Given the description of an element on the screen output the (x, y) to click on. 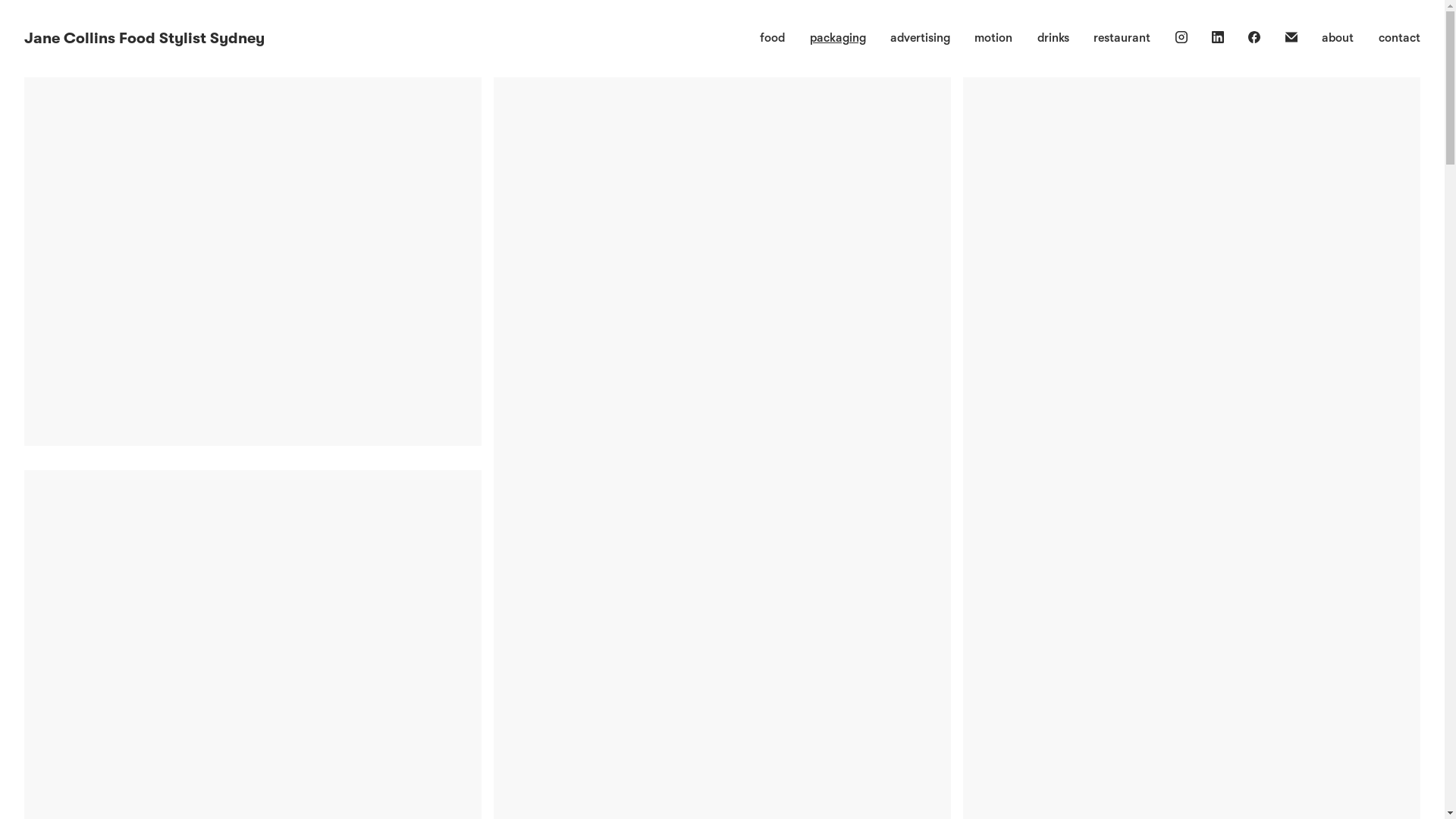
Jane Collins Food Stylist Sydney Element type: text (144, 38)
drinks Element type: text (1053, 37)
food Element type: text (771, 37)
advertising Element type: text (920, 37)
motion Element type: text (993, 37)
restaurant Element type: text (1121, 37)
contact Element type: text (1399, 37)
packaging Element type: text (837, 37)
about Element type: text (1337, 37)
